Given the description of an element on the screen output the (x, y) to click on. 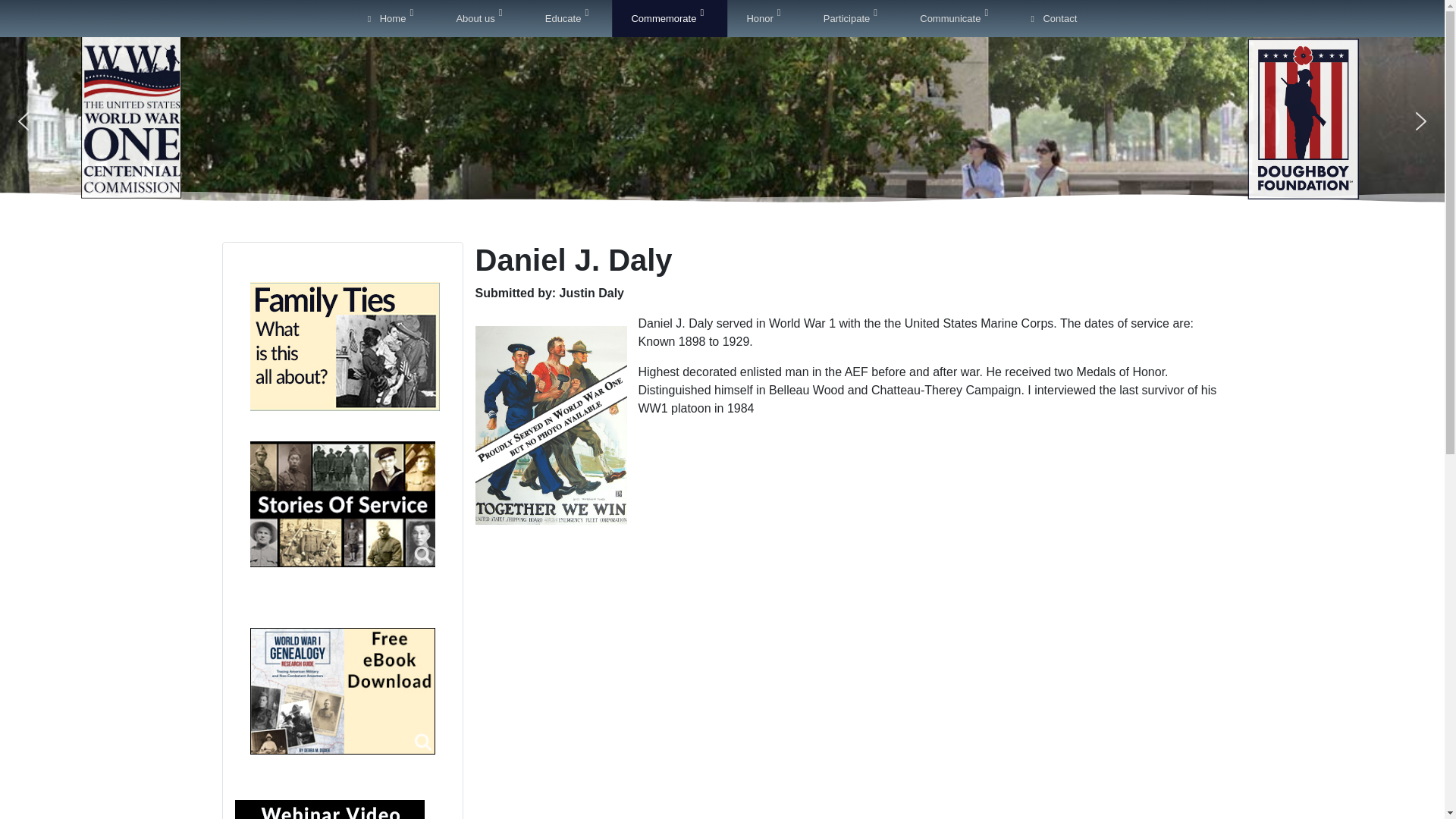
Link to the Finding Your Ancestor Video on Vimeo (329, 809)
Link to Stories Of Service on the Doughboy Foundation site (342, 504)
